Given the description of an element on the screen output the (x, y) to click on. 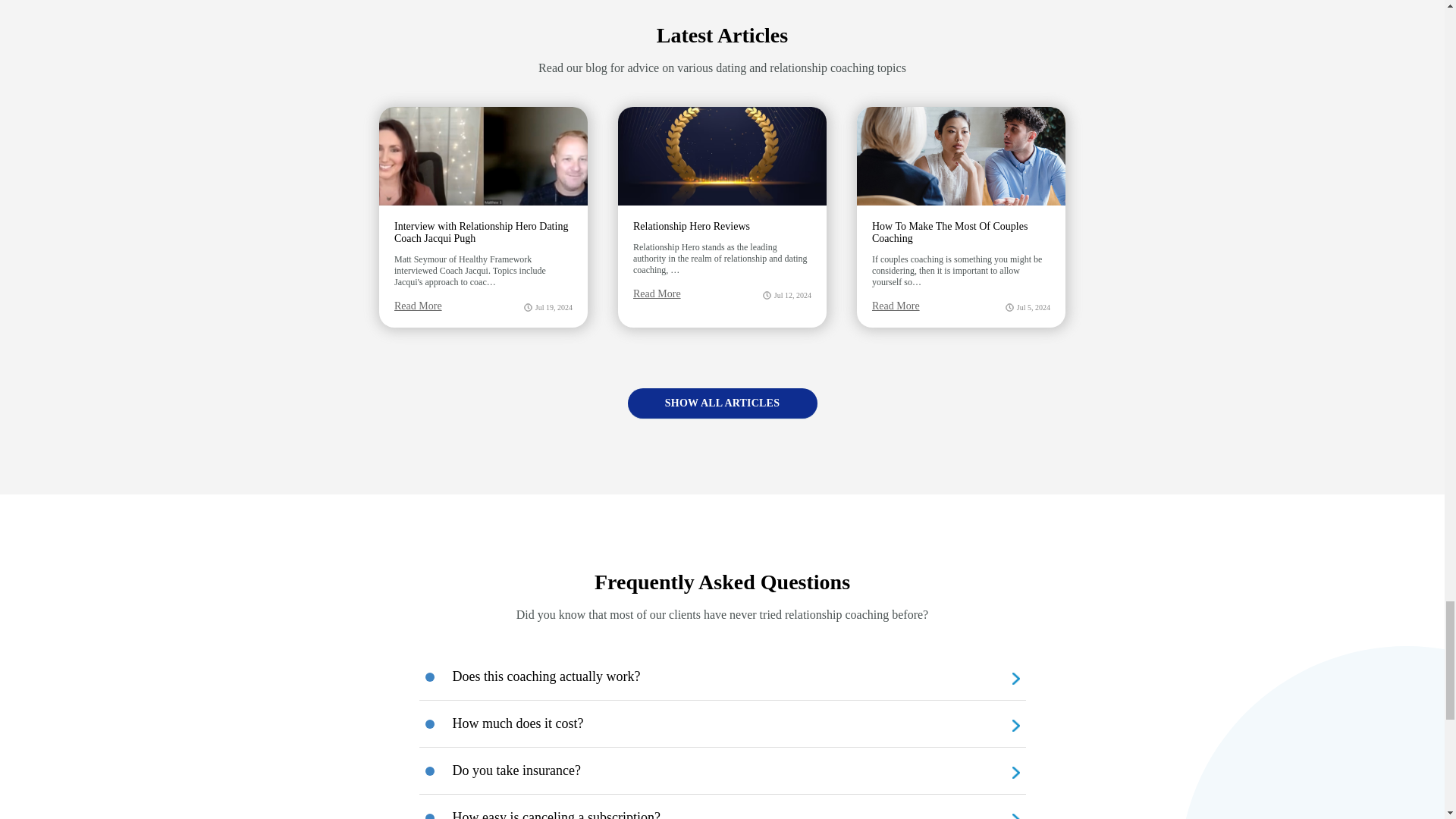
SHOW ALL ARTICLES (721, 410)
SHOW ALL ARTICLES (721, 403)
